Given the description of an element on the screen output the (x, y) to click on. 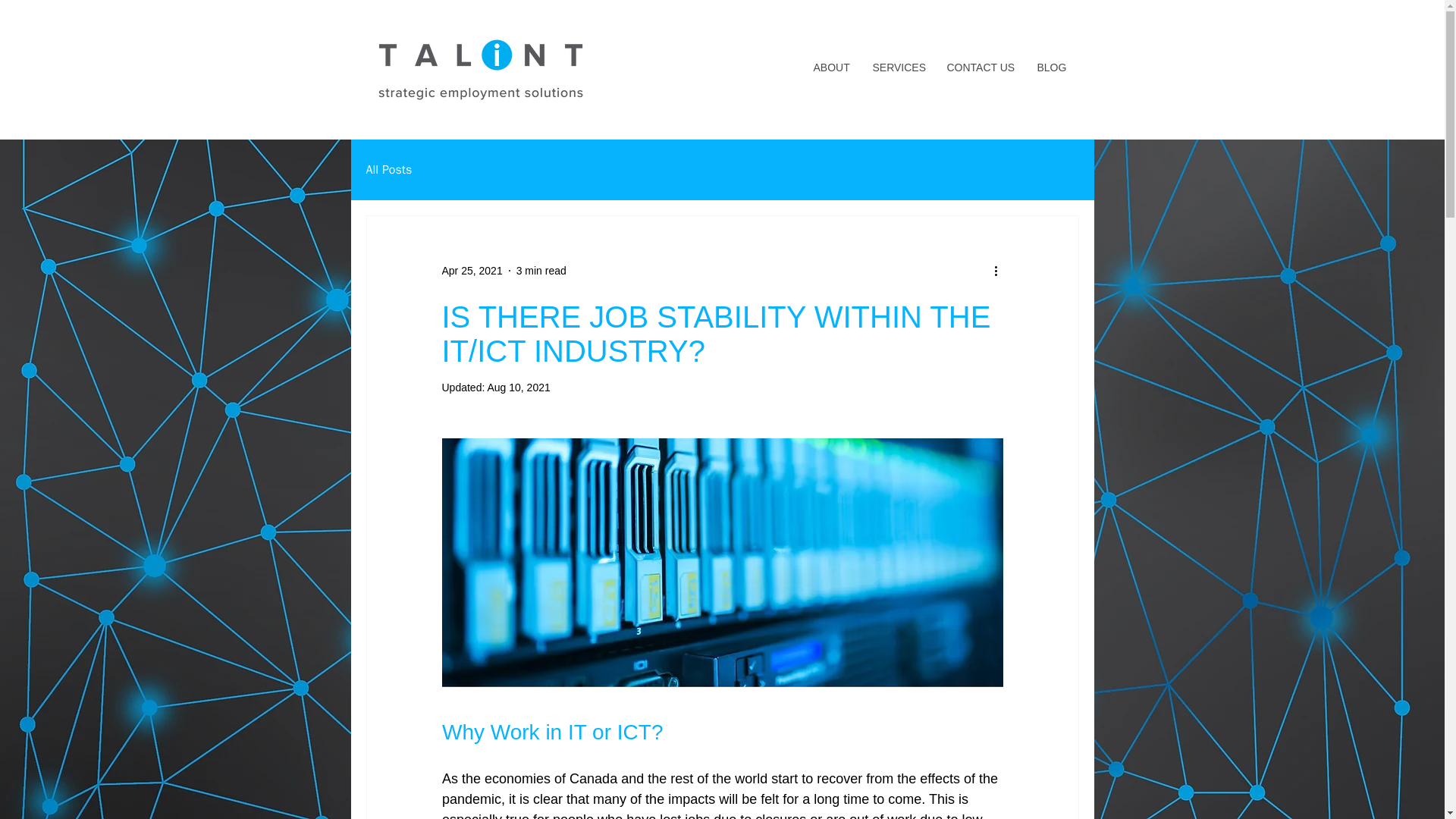
All Posts (388, 170)
Aug 10, 2021 (518, 387)
ABOUT (831, 67)
Apr 25, 2021 (471, 269)
CONTACT US (981, 67)
3 min read (541, 269)
SERVICES (898, 67)
BLOG (1051, 67)
